Given the description of an element on the screen output the (x, y) to click on. 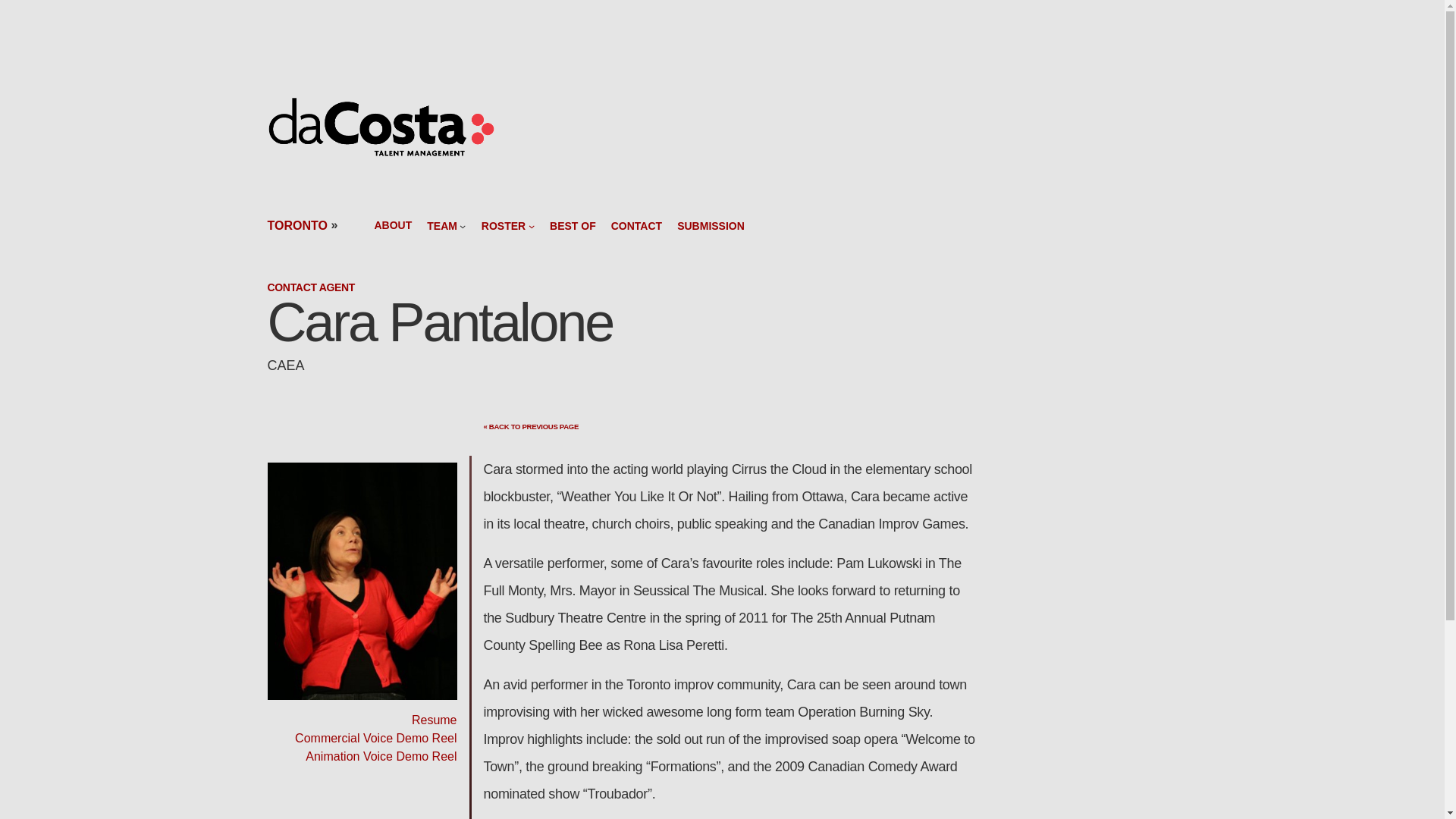
CONTACT (636, 225)
TEAM (441, 225)
SUBMISSION (710, 225)
BEST OF (572, 225)
ROSTER (503, 225)
TORONTO (296, 225)
Commercial Voice Demo Reel (376, 738)
Animation Voice Demo Reel (381, 756)
Resume (434, 719)
ABOUT (393, 225)
CONTACT AGENT (310, 287)
